Given the description of an element on the screen output the (x, y) to click on. 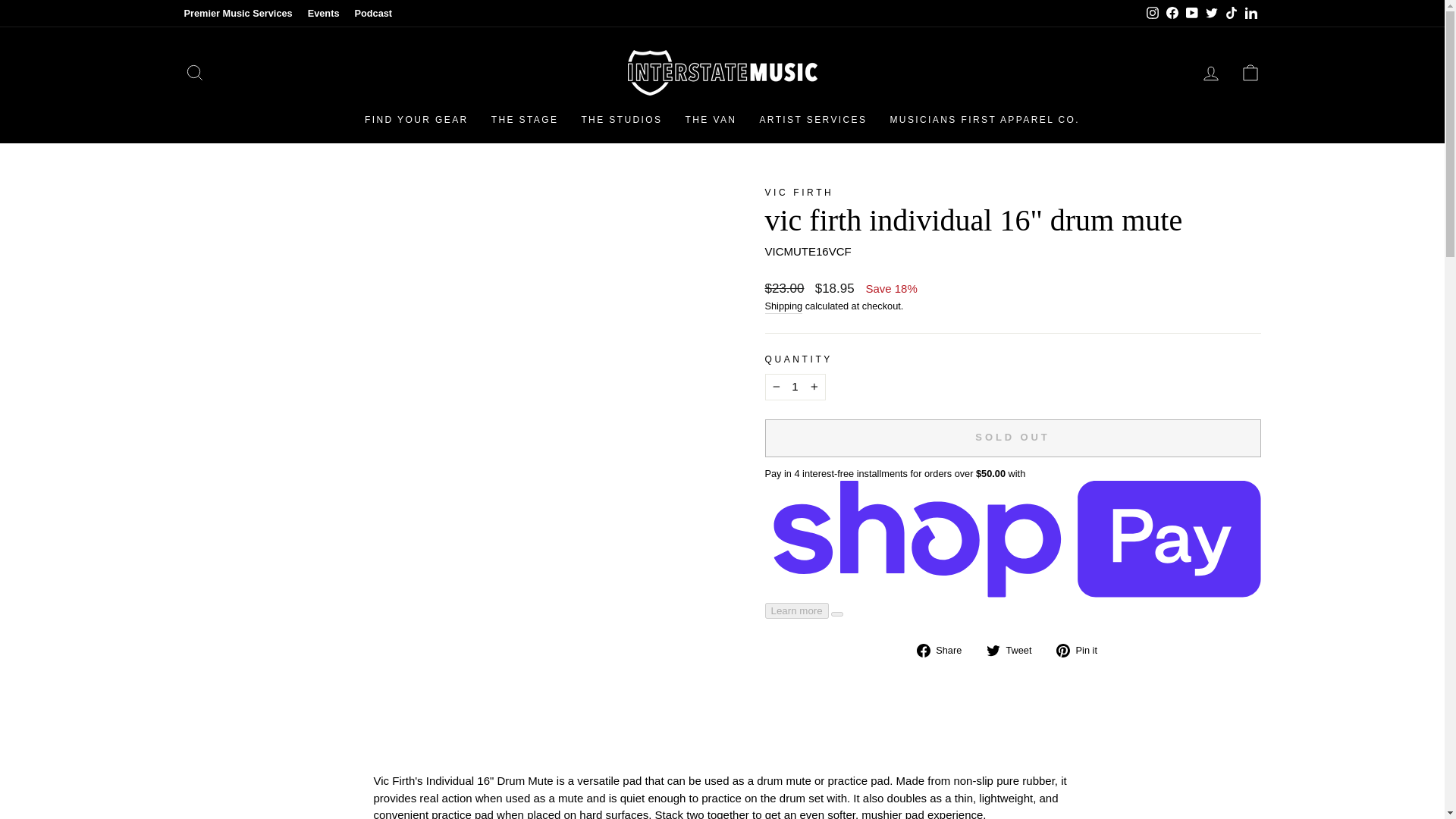
Share on Facebook (944, 650)
Vic firth (798, 192)
Tweet on Twitter (1014, 650)
Premier Music Services (237, 13)
Interstate Music on YouTube (1190, 13)
Podcast (372, 13)
Interstate Music on Instagram (1151, 13)
Interstate Music on LinkedIn (1250, 13)
Interstate Music on TikTok (1230, 13)
Interstate Music on Twitter (1211, 13)
